Given the description of an element on the screen output the (x, y) to click on. 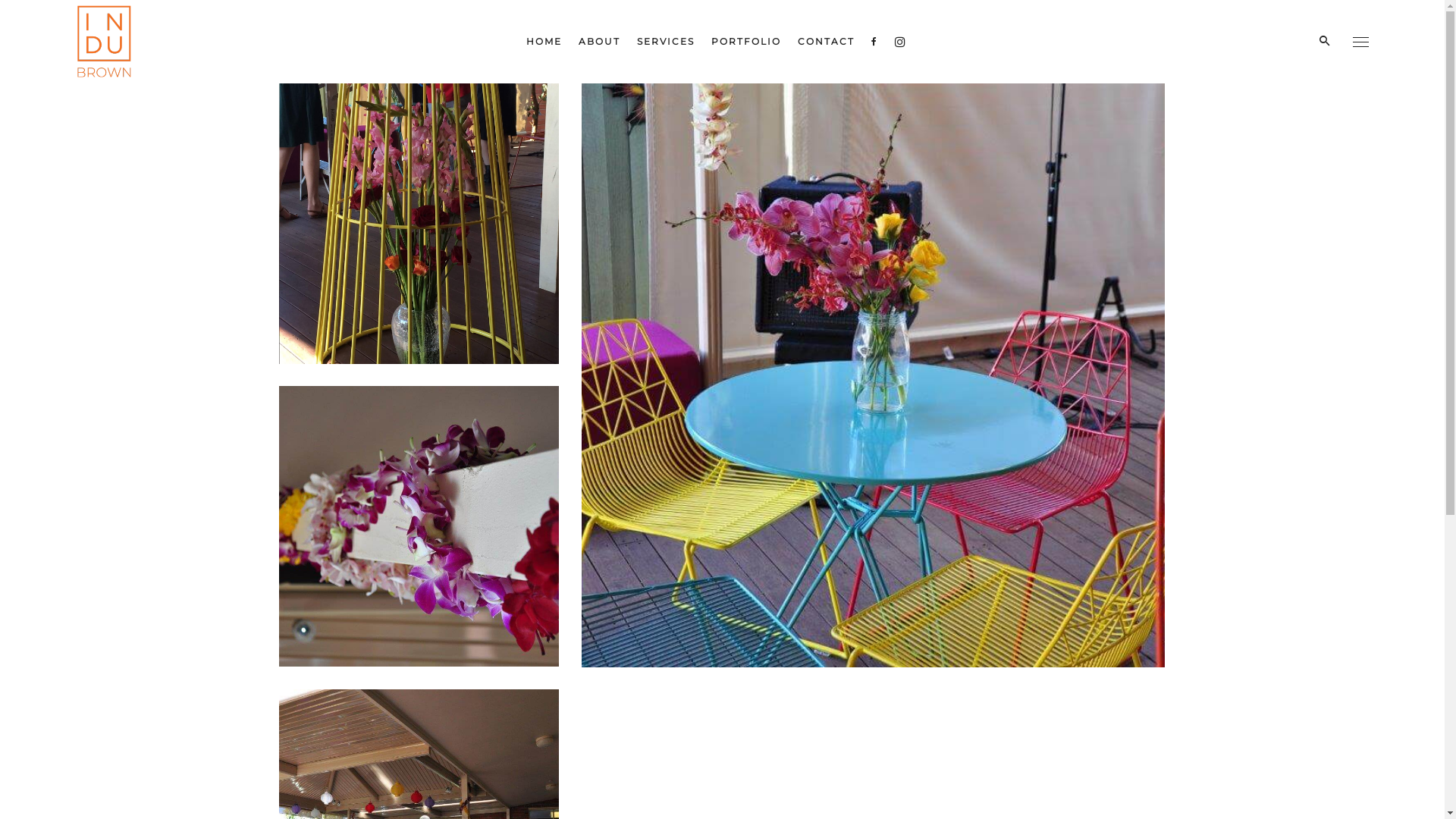
ABOUT Element type: text (599, 41)
PORTFOLIO Element type: text (746, 41)
HOME Element type: text (543, 41)
SERVICES Element type: text (665, 41)
CONTACT Element type: text (825, 41)
